Given the description of an element on the screen output the (x, y) to click on. 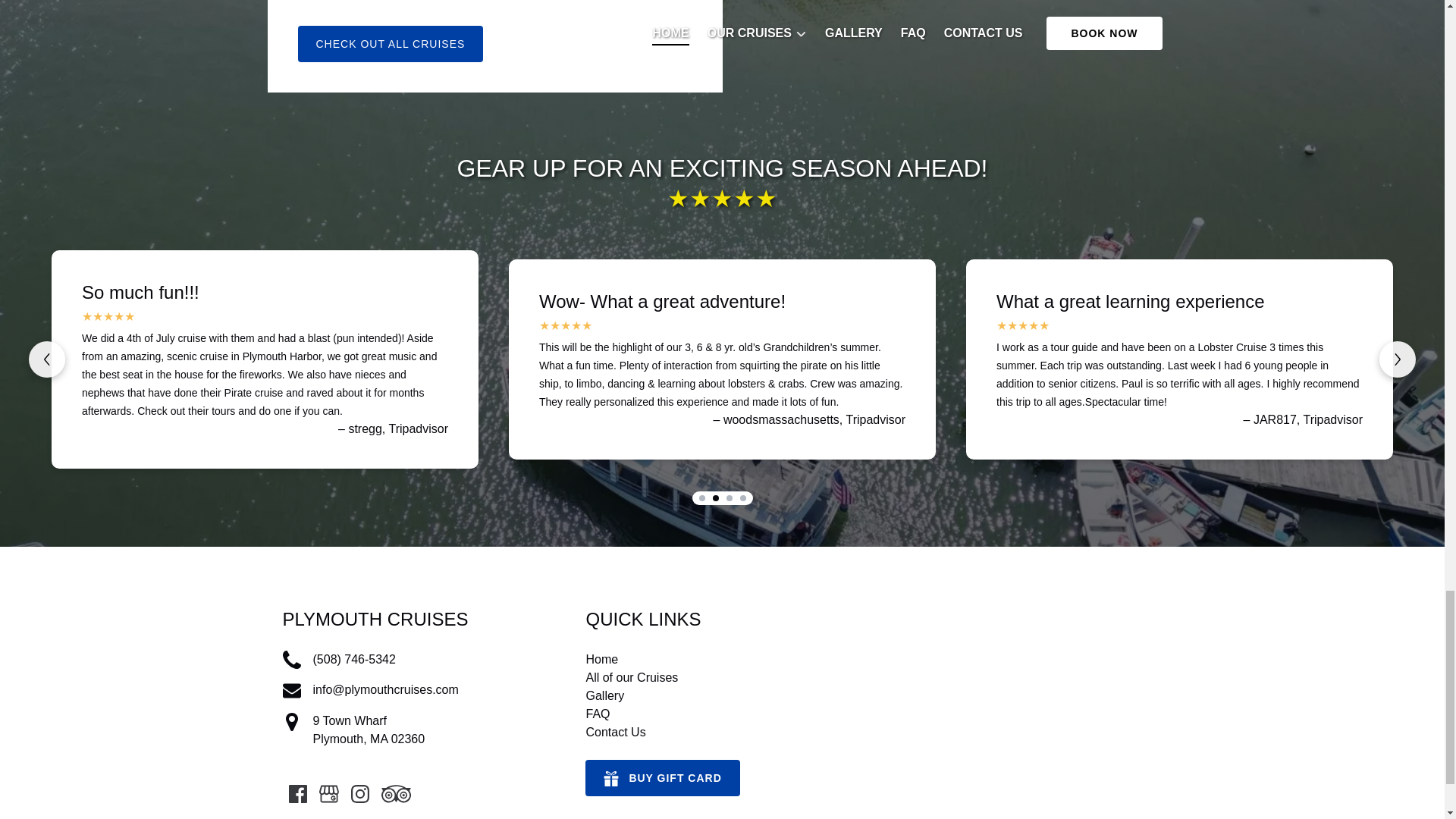
Map Marker (290, 721)
Envelope (290, 690)
Phone (290, 659)
